Given the description of an element on the screen output the (x, y) to click on. 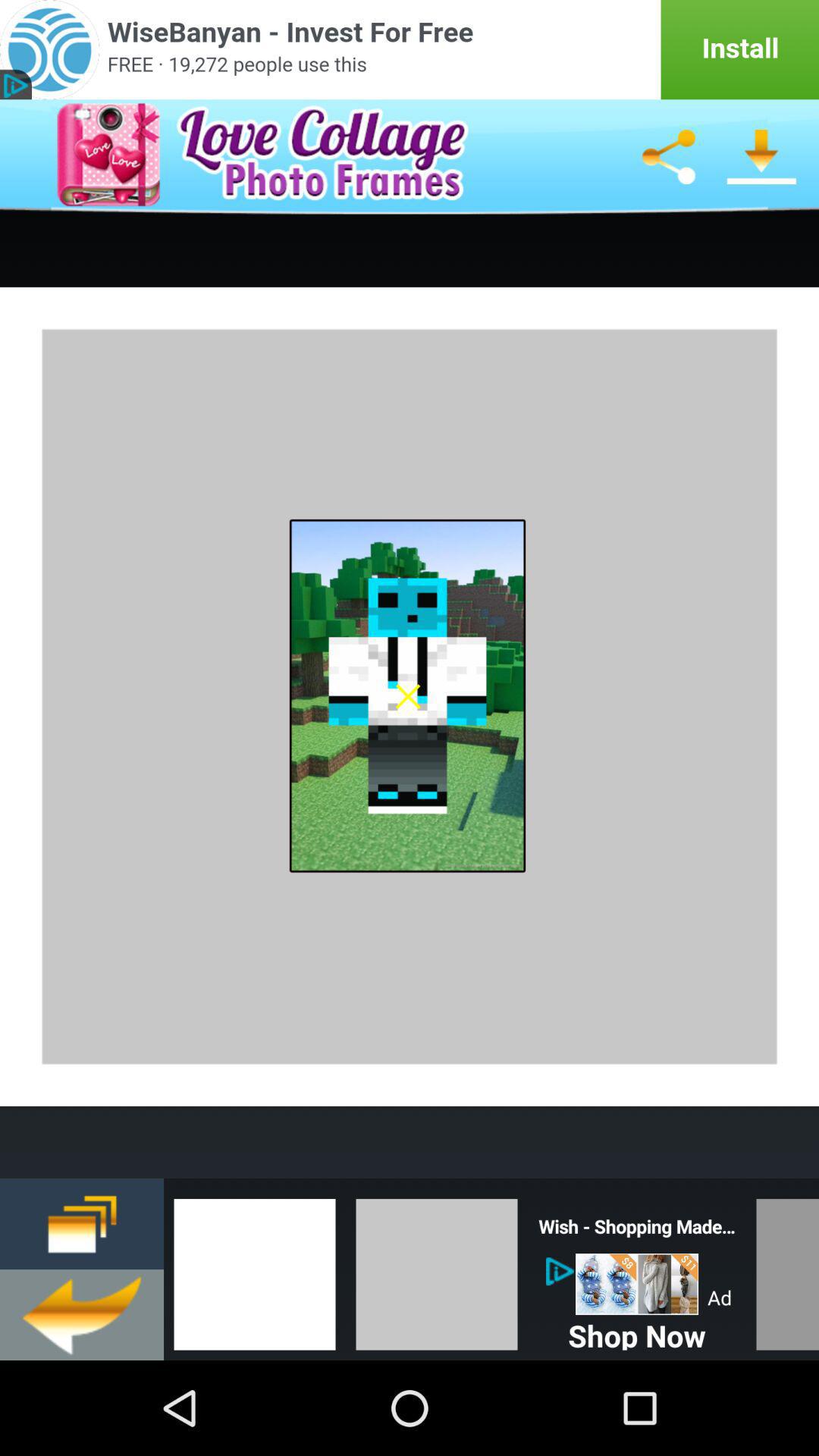
select for a blank page (254, 1269)
